Given the description of an element on the screen output the (x, y) to click on. 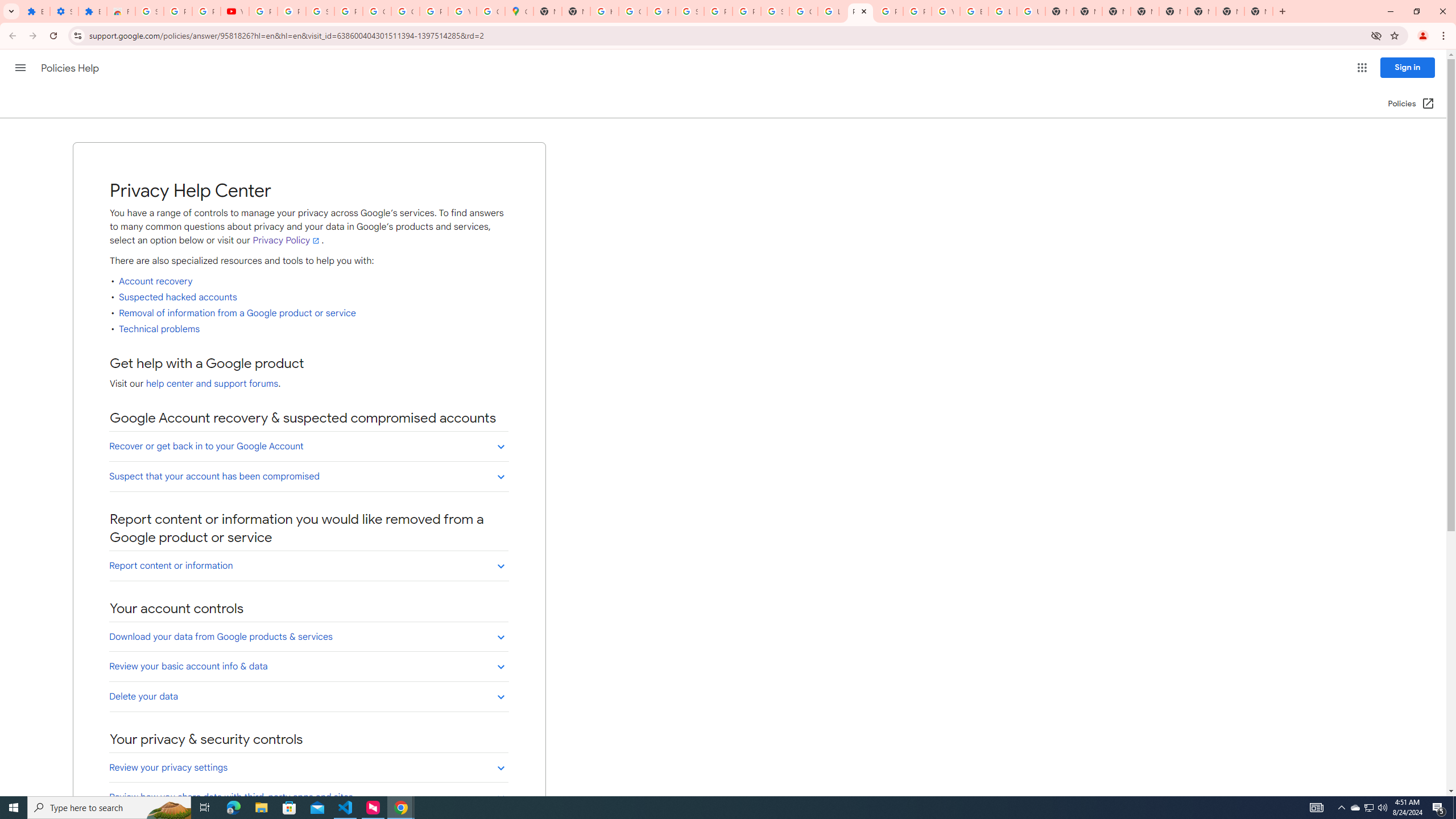
Sign in - Google Accounts (774, 11)
Reviews: Helix Fruit Jump Arcade Game (120, 11)
Google Maps (518, 11)
Suspected hacked accounts (178, 297)
New Tab (1258, 11)
Review how you share data with third-party apps and sites (308, 797)
